Given the description of an element on the screen output the (x, y) to click on. 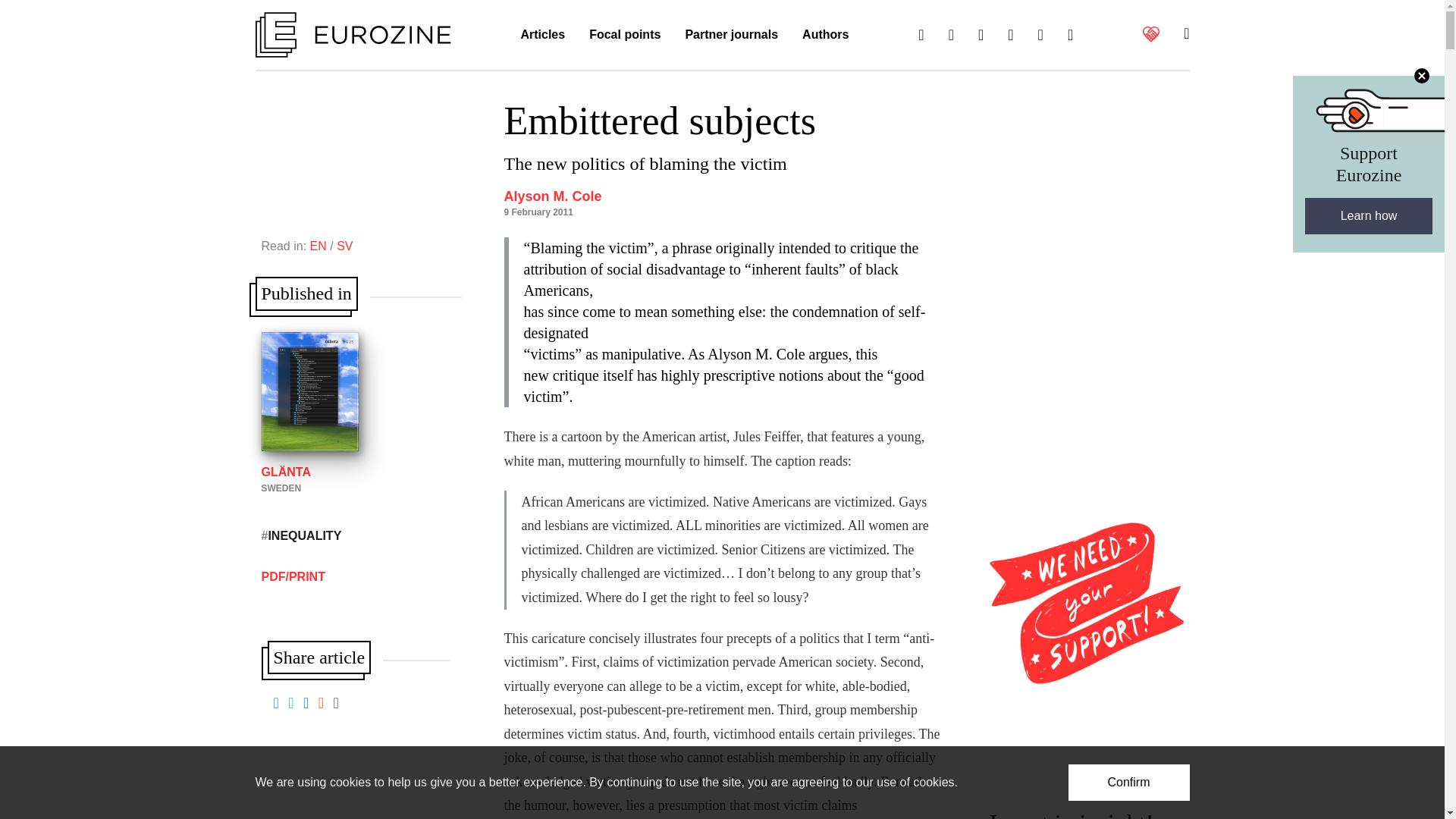
Partner journals (731, 34)
Confirm (1128, 782)
Focal points (624, 34)
Learn how (1368, 216)
Articles (542, 34)
Authors (825, 34)
